Given the description of an element on the screen output the (x, y) to click on. 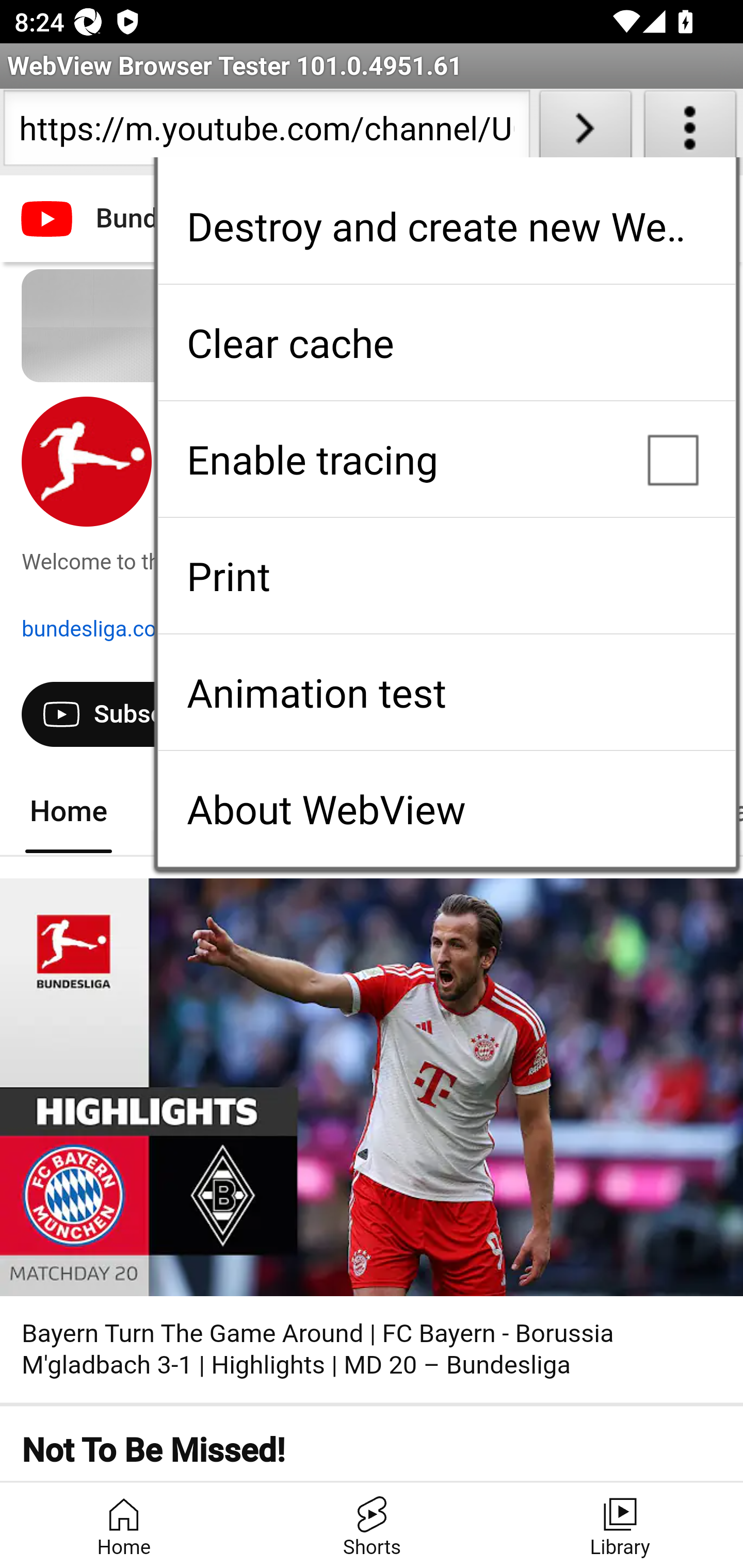
Destroy and create new WebView (446, 225)
Clear cache (446, 342)
Enable tracing (446, 459)
Print (446, 575)
Animation test (446, 692)
About WebView (446, 809)
